Given the description of an element on the screen output the (x, y) to click on. 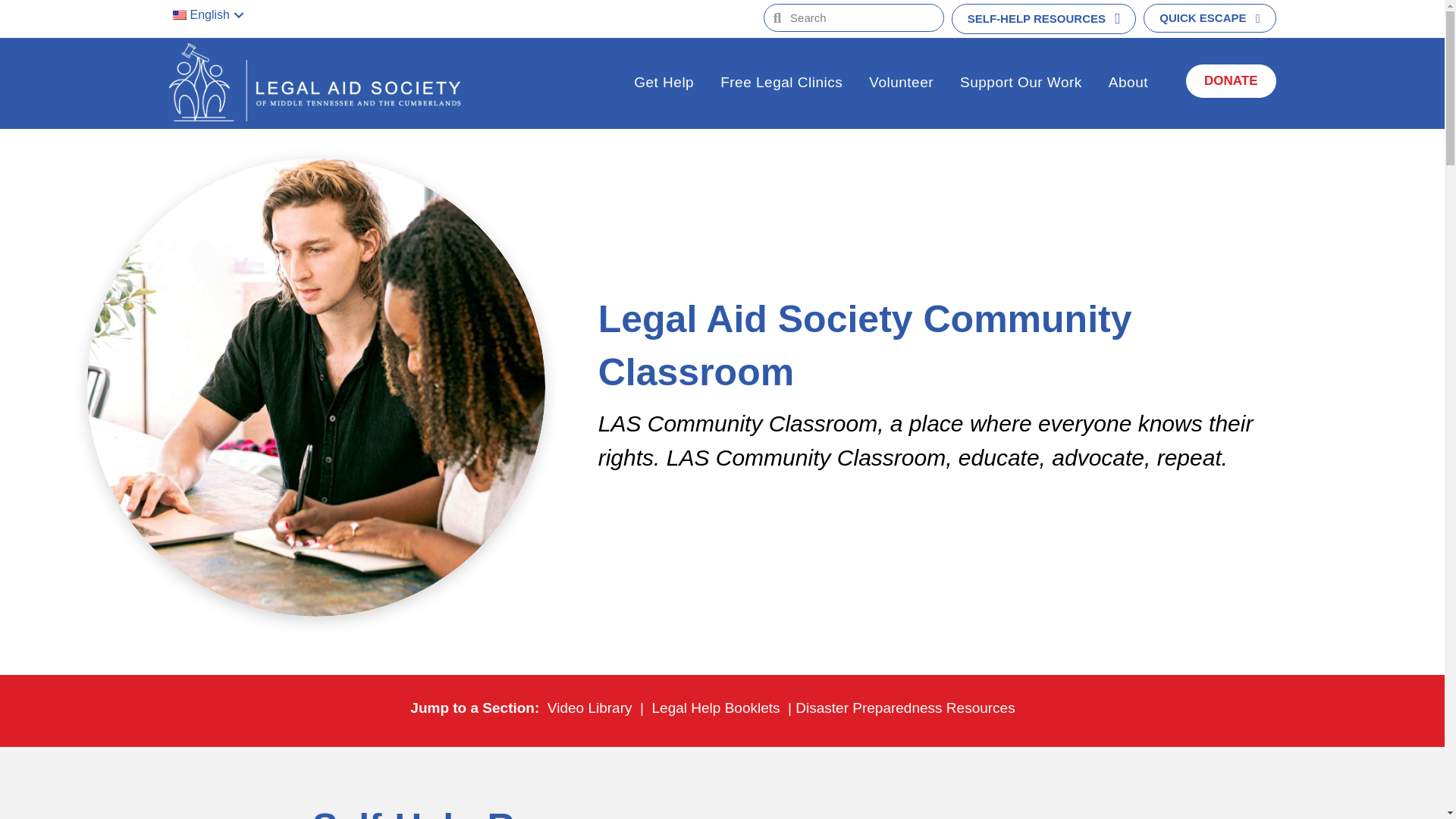
English (211, 14)
Search (861, 17)
Free Legal Clinics (781, 84)
LASMT Logo White (319, 82)
English (179, 14)
Get Help (663, 84)
Support Our Work (1020, 84)
About (1128, 84)
DONATE (1231, 80)
Volunteer (900, 84)
SELF-HELP RESOURCES (1044, 19)
QUICK ESCAPE (1208, 18)
Pexels Mart Production 7329674 (934, 813)
